Given the description of an element on the screen output the (x, y) to click on. 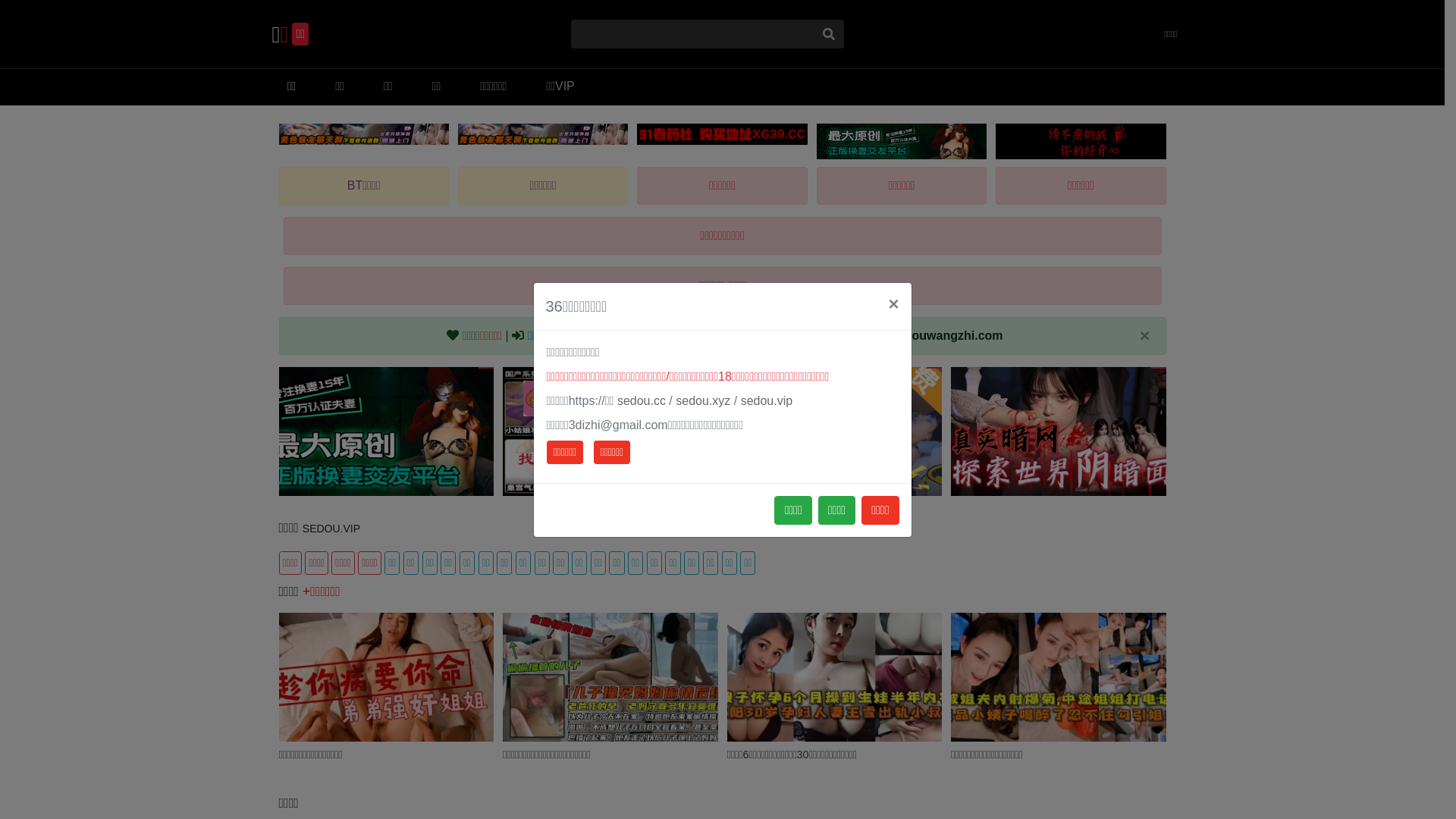
sedou.vip Element type: text (766, 400)
sedou.xyz Element type: text (702, 400)
sedou.cc Element type: text (641, 400)
SEDOU.VIP Element type: text (331, 528)
sedouwangzhi.com Element type: text (947, 335)
